Given the description of an element on the screen output the (x, y) to click on. 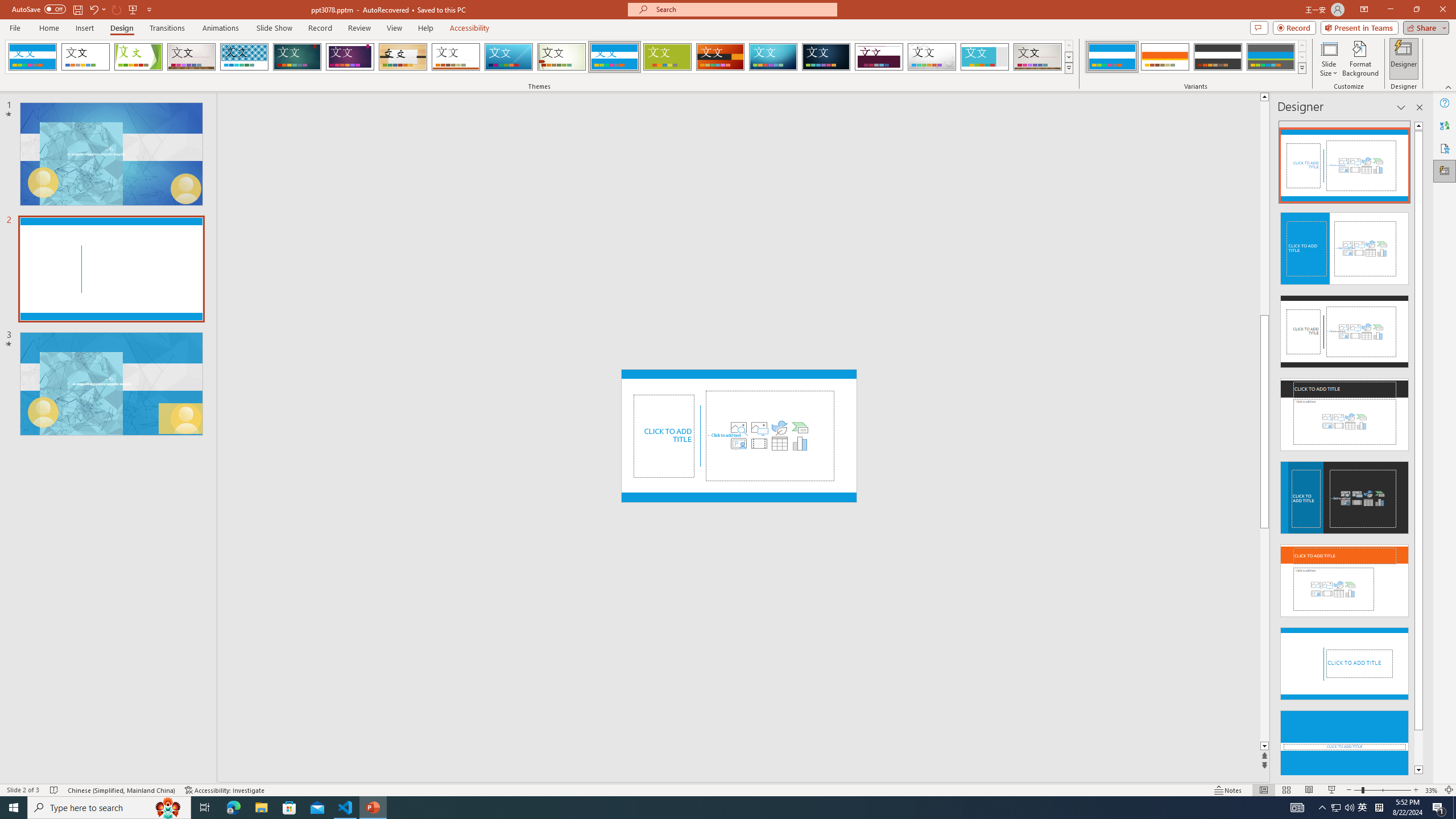
Droplet (931, 56)
Ion (296, 56)
Insert Chart (799, 443)
